Given the description of an element on the screen output the (x, y) to click on. 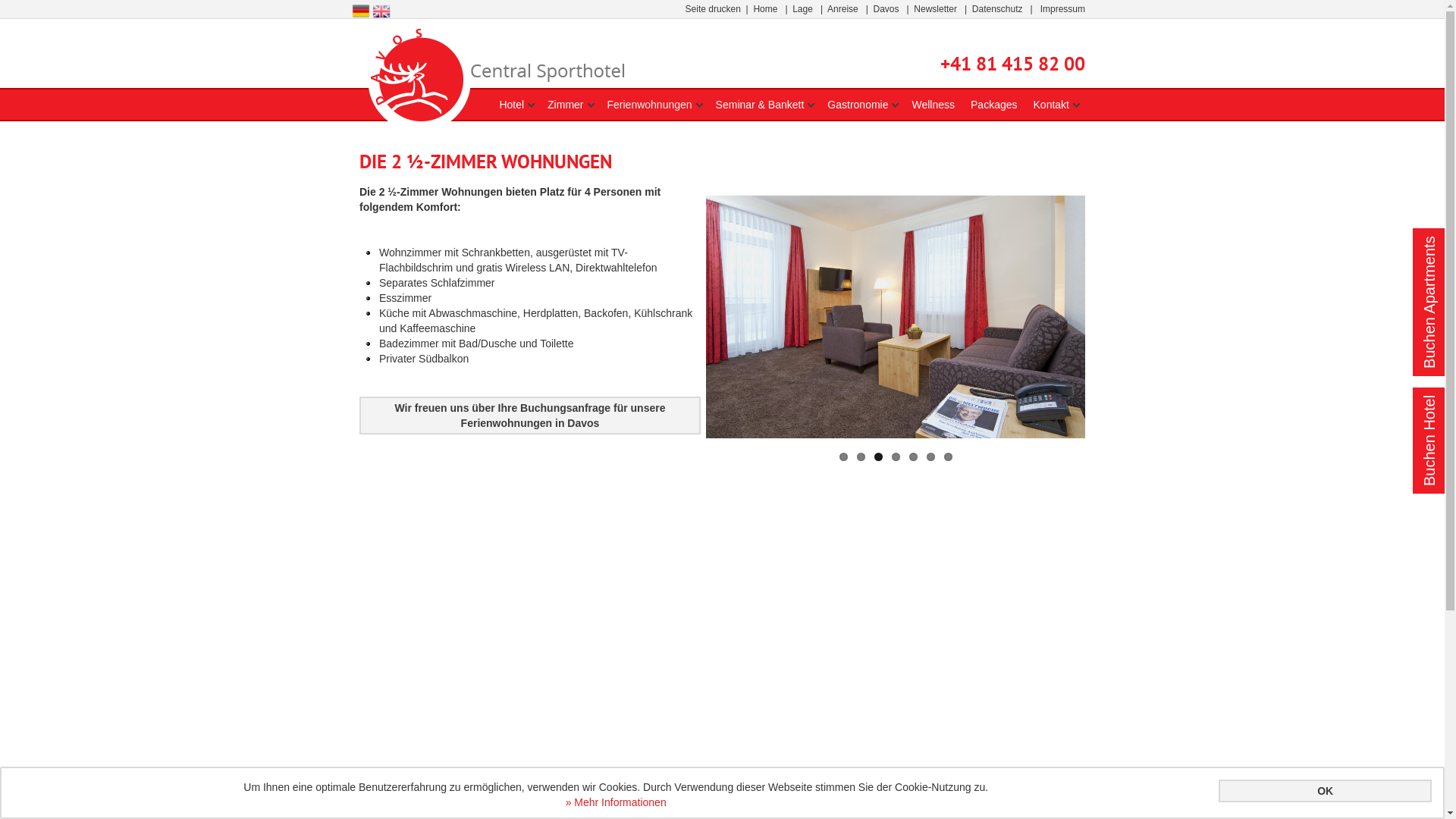
Ferienwohnungen Element type: text (648, 104)
Zimmer Element type: text (565, 104)
Packages Element type: text (993, 104)
3 Element type: text (877, 455)
Datenschutz Element type: text (997, 8)
Newsletter Element type: text (935, 8)
Seite drucken Element type: text (712, 8)
Wellness Element type: text (932, 104)
Home Element type: text (765, 8)
Seminar & Bankett Element type: text (759, 104)
6 Element type: text (930, 455)
de Element type: hover (360, 11)
4 Element type: text (895, 455)
Gastronomie Element type: text (857, 104)
5 Element type: text (912, 455)
1 Element type: text (842, 455)
Anreise Element type: text (842, 8)
Lage Element type: text (802, 8)
Davos Element type: text (886, 8)
2 Element type: text (860, 455)
Hotel Element type: text (511, 104)
Impressum Element type: text (1062, 8)
7 Element type: text (947, 455)
En Element type: hover (381, 9)
Kontakt Element type: text (1051, 104)
OK Element type: text (1324, 790)
